Given the description of an element on the screen output the (x, y) to click on. 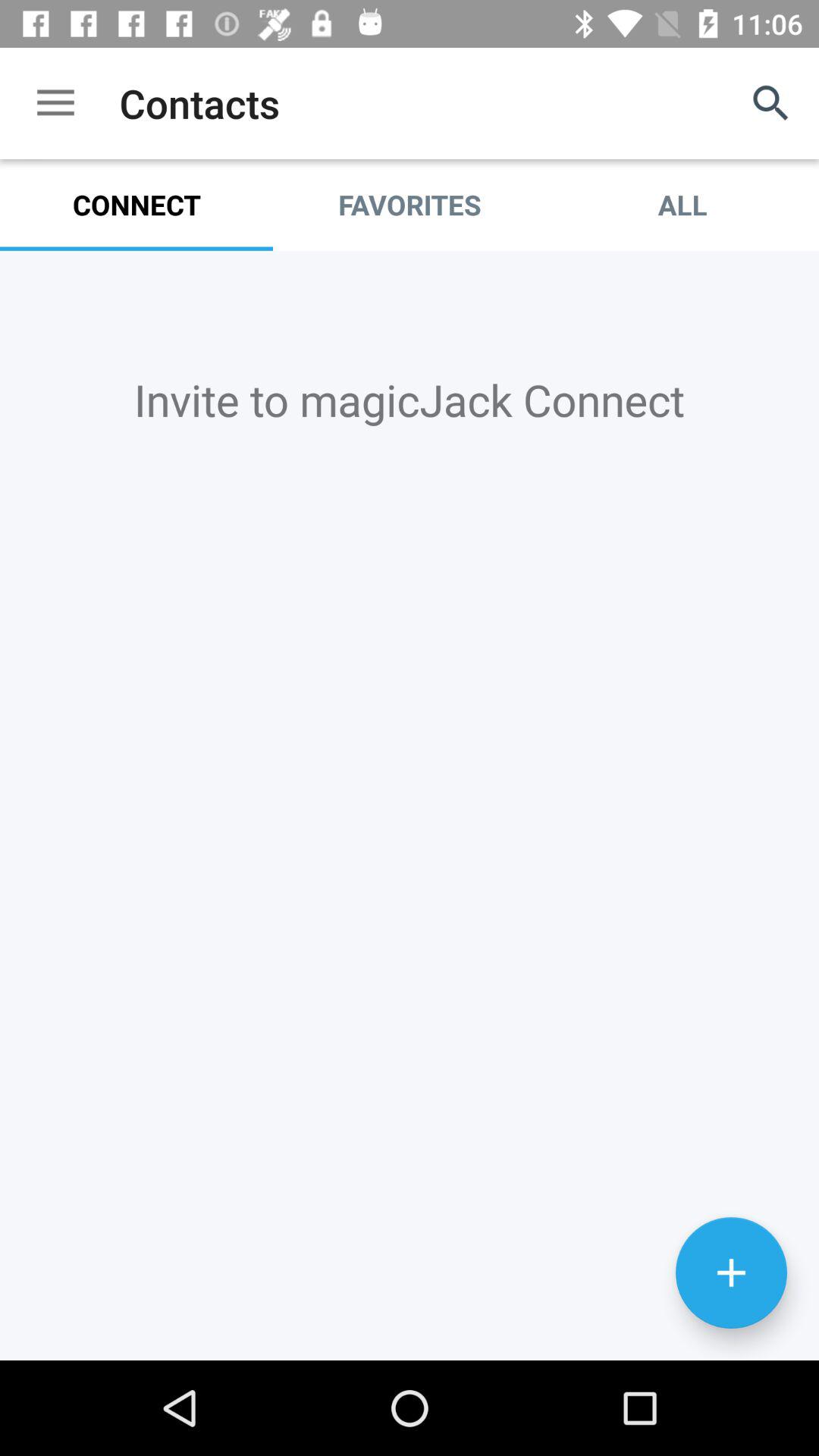
turn on item to the right of connect (409, 204)
